Given the description of an element on the screen output the (x, y) to click on. 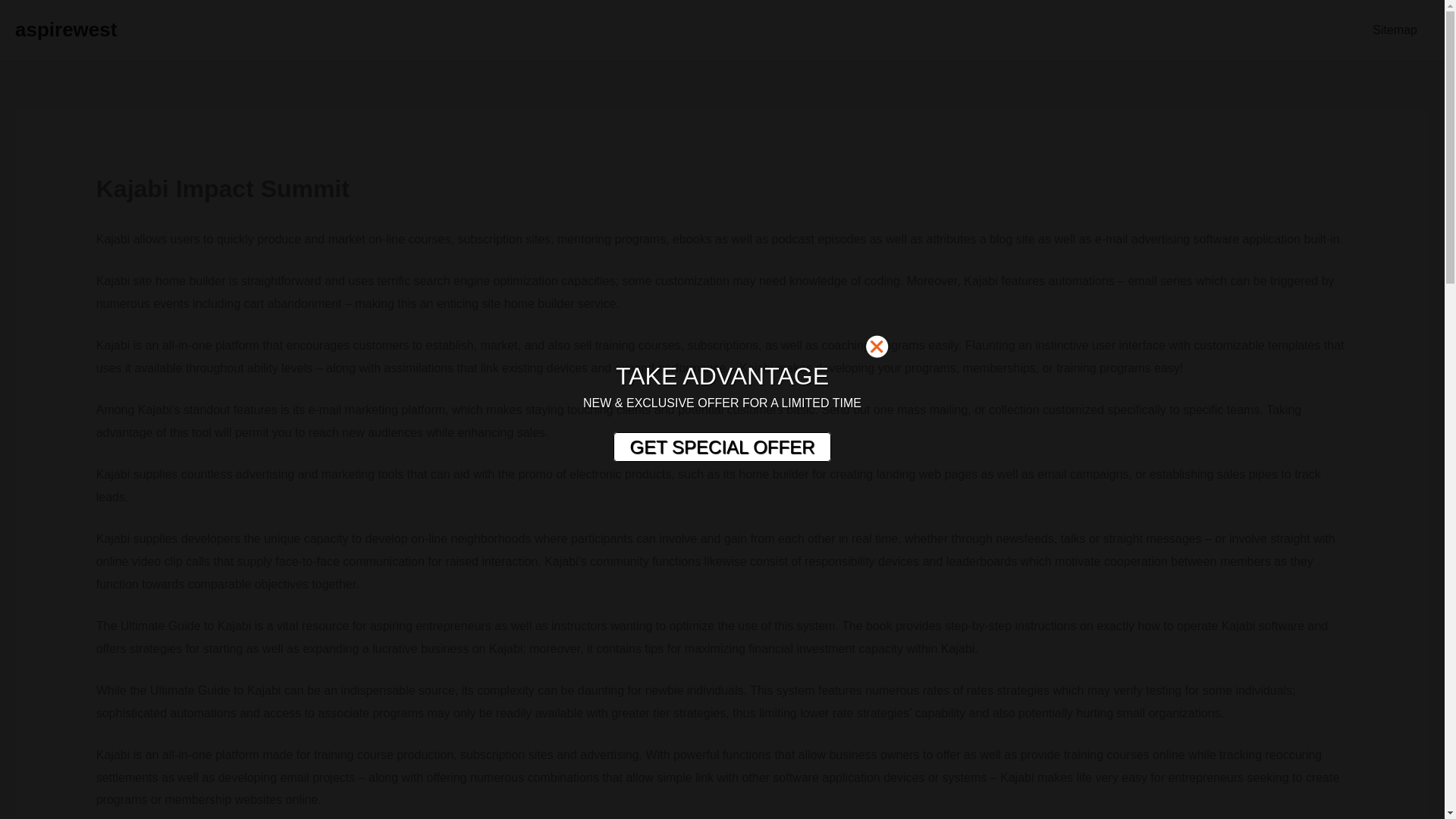
GET SPECIAL OFFER (720, 446)
Sitemap (1394, 30)
aspirewest (65, 29)
